Given the description of an element on the screen output the (x, y) to click on. 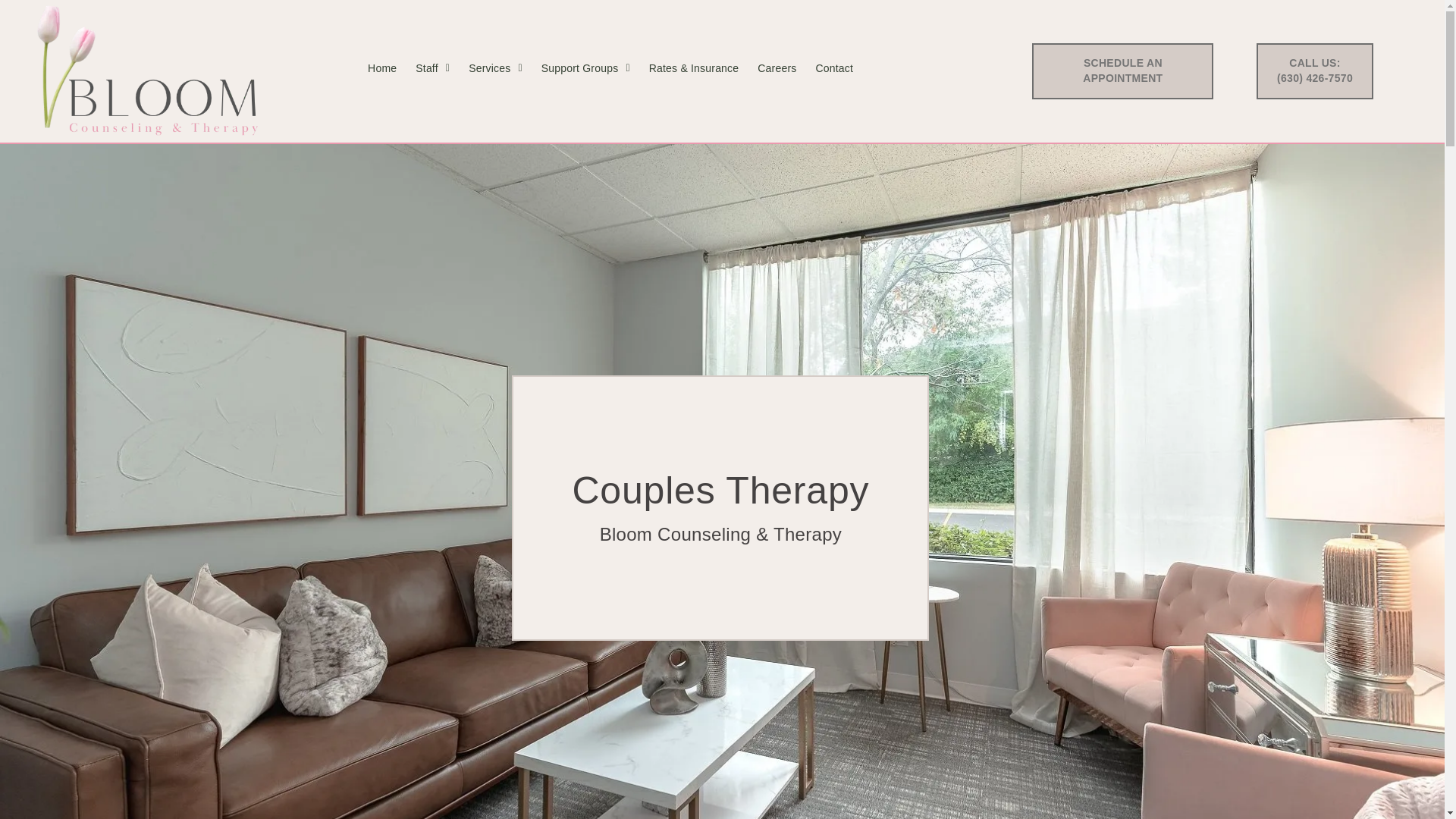
Contact (834, 68)
Home (382, 68)
Careers (776, 68)
Services (495, 68)
Support Groups (585, 68)
Staff (431, 68)
